Given the description of an element on the screen output the (x, y) to click on. 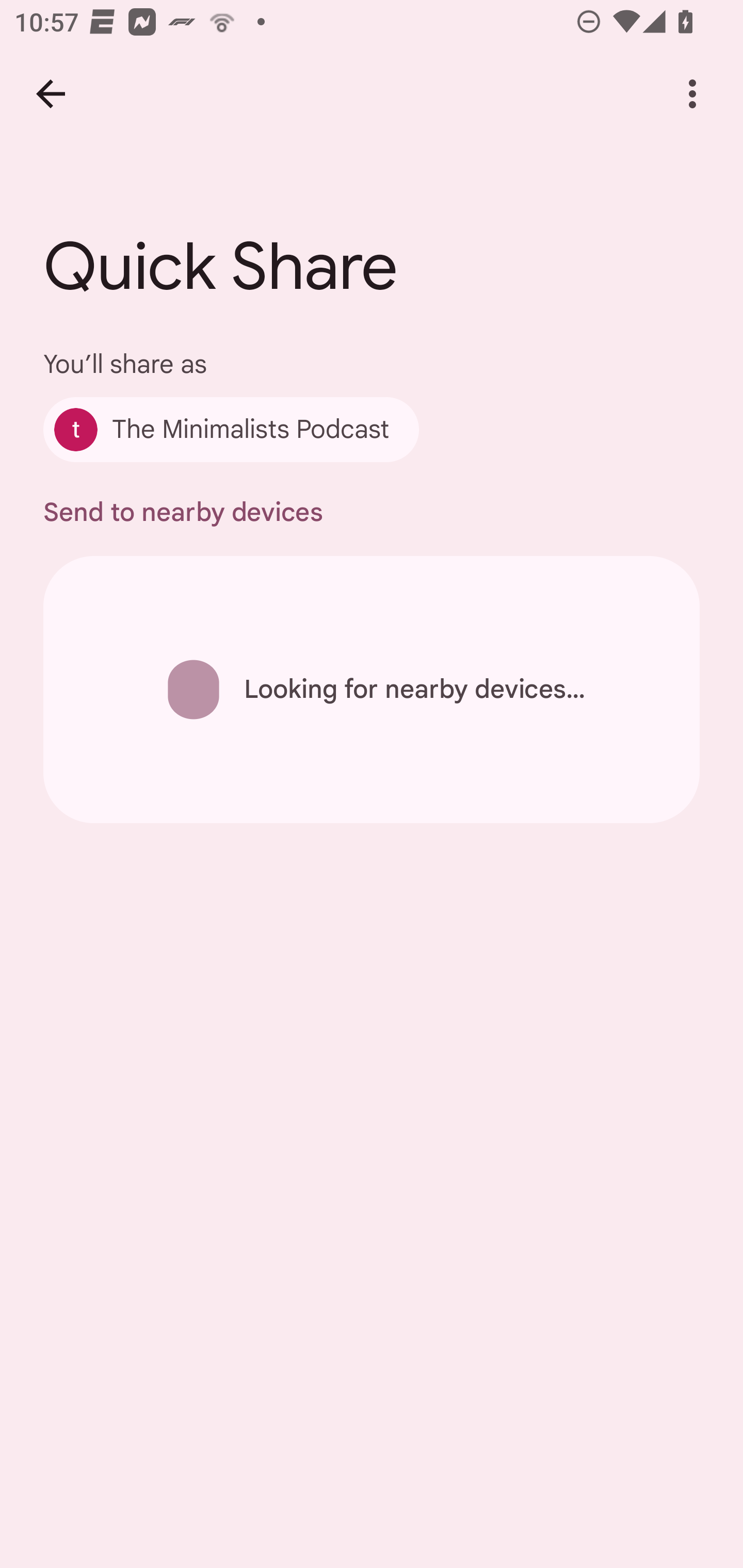
Back (50, 93)
More (692, 93)
The Minimalists Podcast (231, 429)
